Given the description of an element on the screen output the (x, y) to click on. 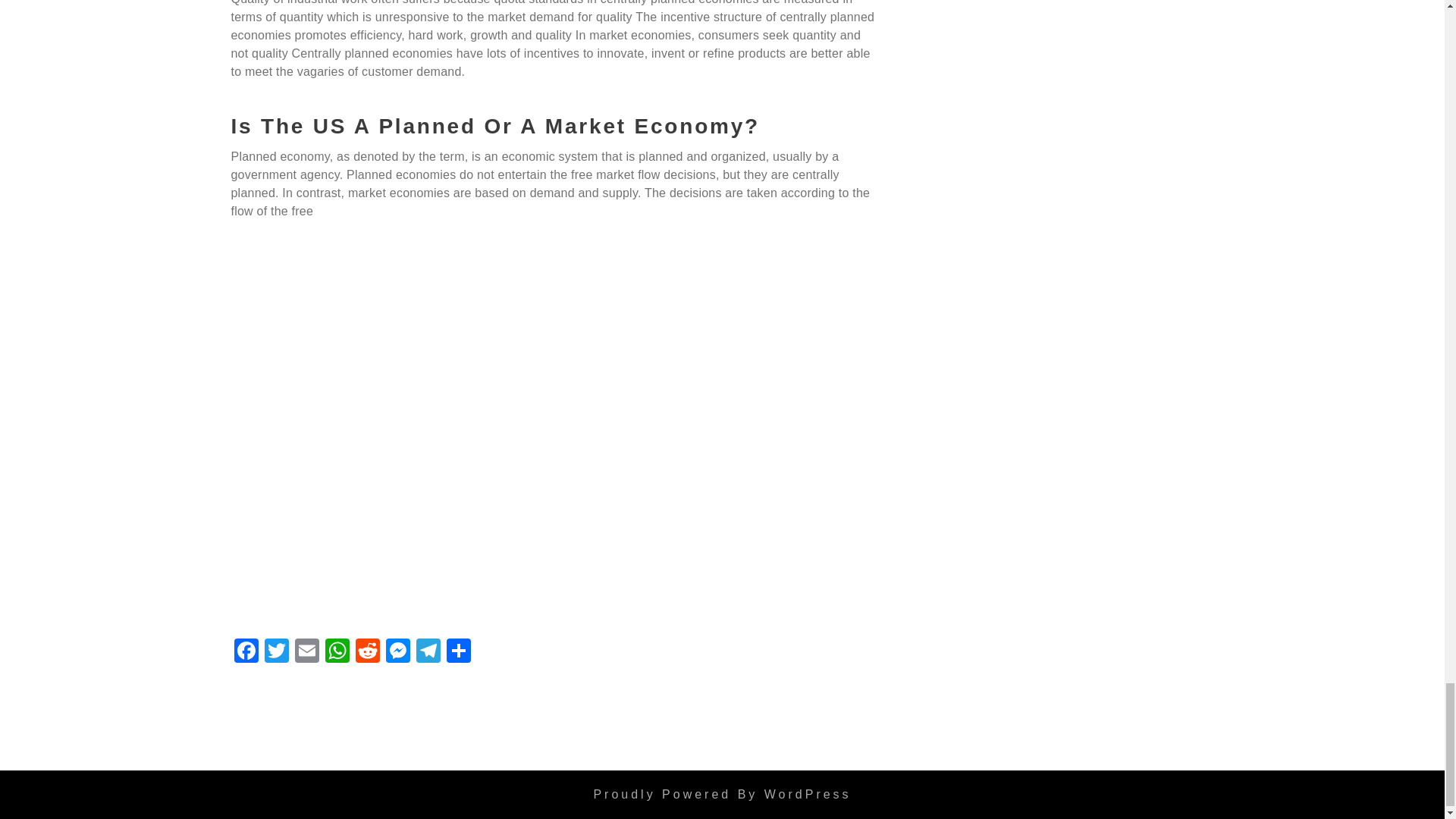
Messenger (396, 652)
Facebook (245, 652)
WhatsApp (336, 652)
Reddit (366, 652)
Facebook (245, 652)
Email (306, 652)
Twitter (275, 652)
Twitter (275, 652)
Telegram (427, 652)
Reddit (366, 652)
